Given the description of an element on the screen output the (x, y) to click on. 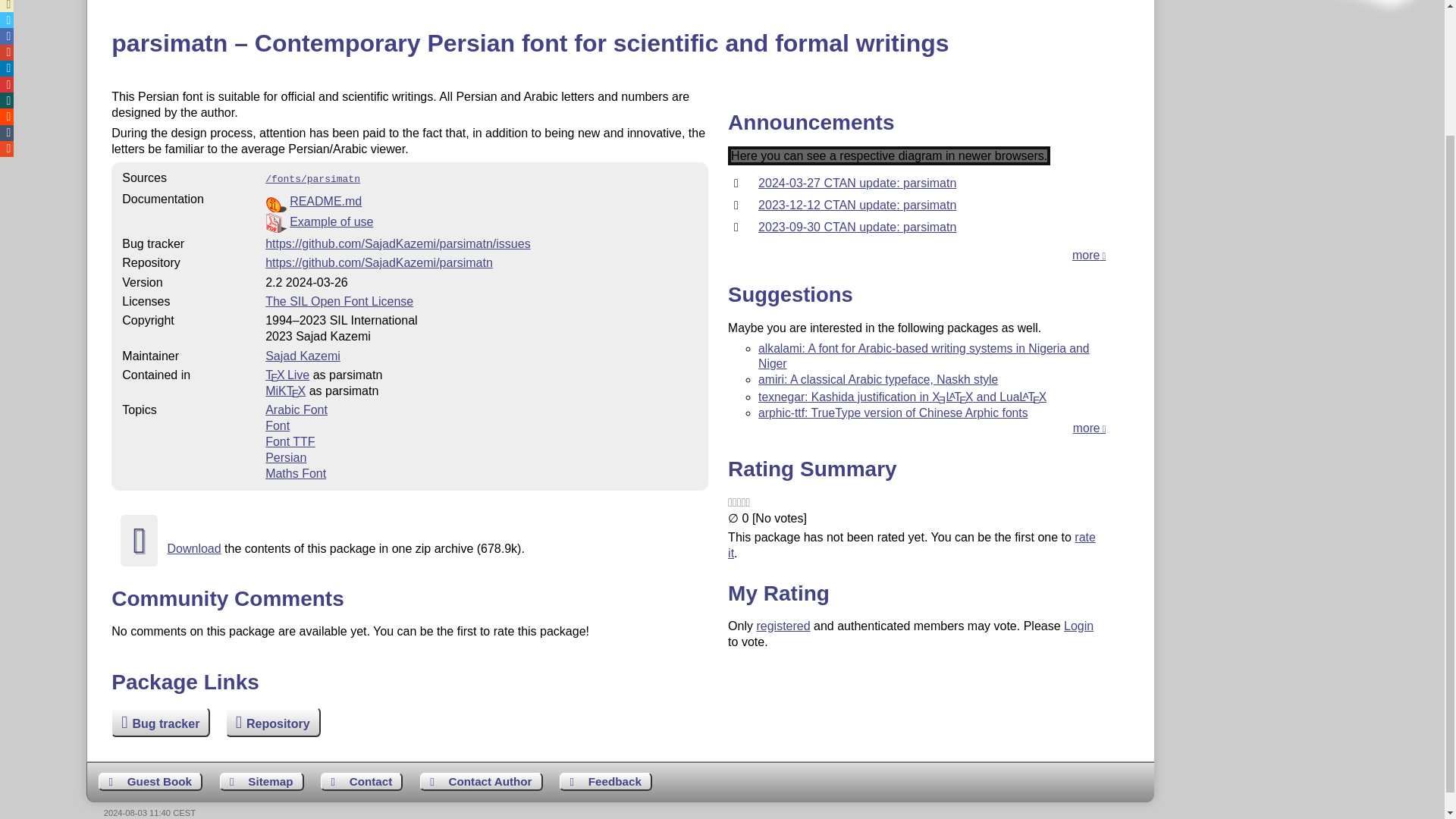
The SIL Open Font License (338, 300)
Get help on how to contact an author (481, 782)
Read Me file (480, 201)
Leave some words for other visitors (150, 782)
Portable Document Format (480, 222)
Sajad Kazemi (302, 355)
Spectrum indicating the announcements for the package (888, 155)
README.md (325, 201)
CTAN lion drawing by Duane Bibby (1353, 28)
Get contact information for the Web site (361, 782)
Example of use (330, 221)
Show the structure of this site (261, 782)
Send feedback on the current web page to the Web masters (605, 782)
